Given the description of an element on the screen output the (x, y) to click on. 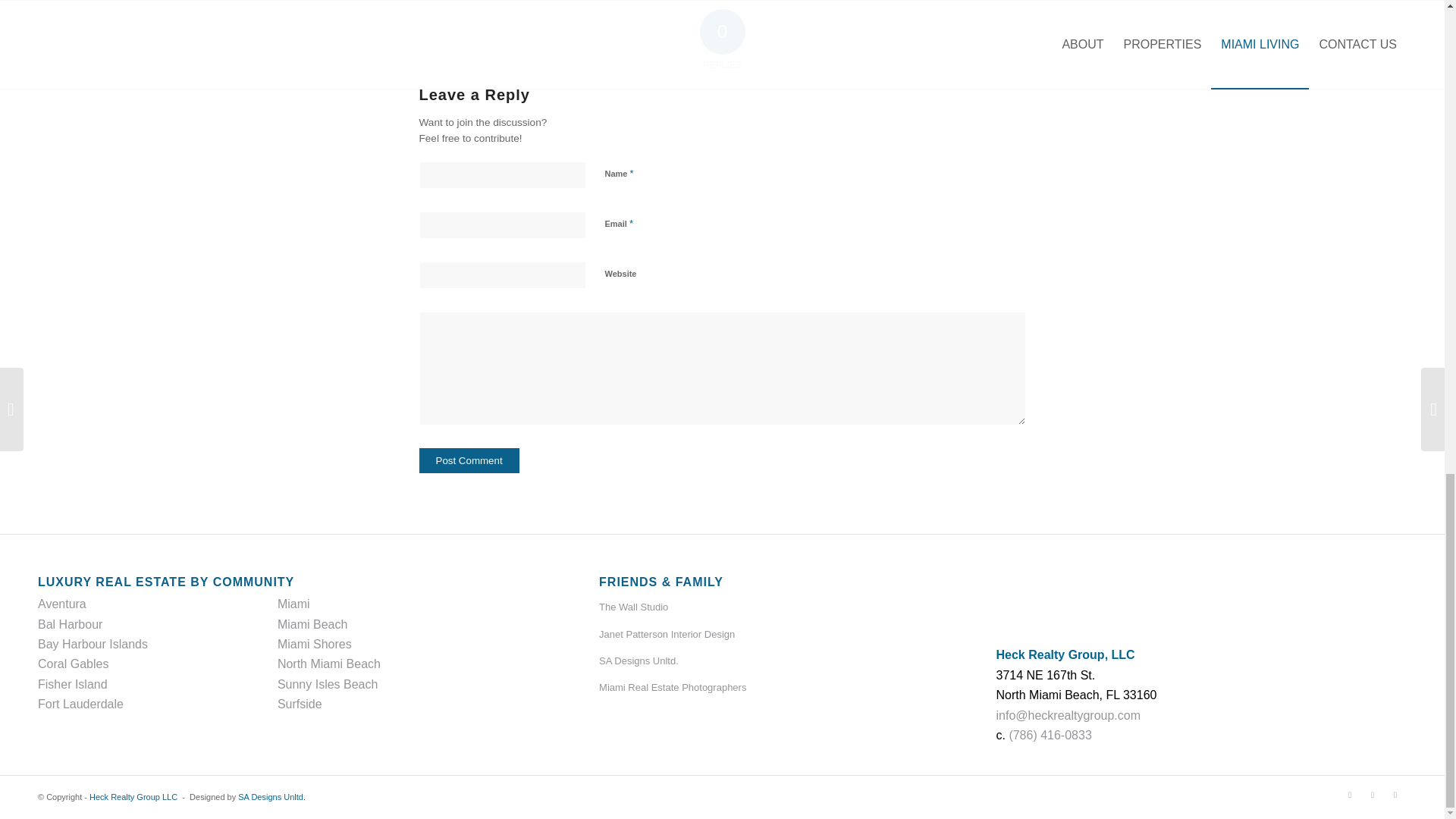
Luxury Real Estate Aventura (61, 603)
Janet Patterson Interior Design (756, 634)
Fort Lauderdale (80, 703)
Fisher Island (72, 684)
Surfside (299, 703)
Luxury Real Estate Bal Harbour (69, 624)
The Wall Studio (756, 607)
Bal Harbour (69, 624)
SA Designs Unltd. (756, 661)
North Miami Beach (329, 663)
